Given the description of an element on the screen output the (x, y) to click on. 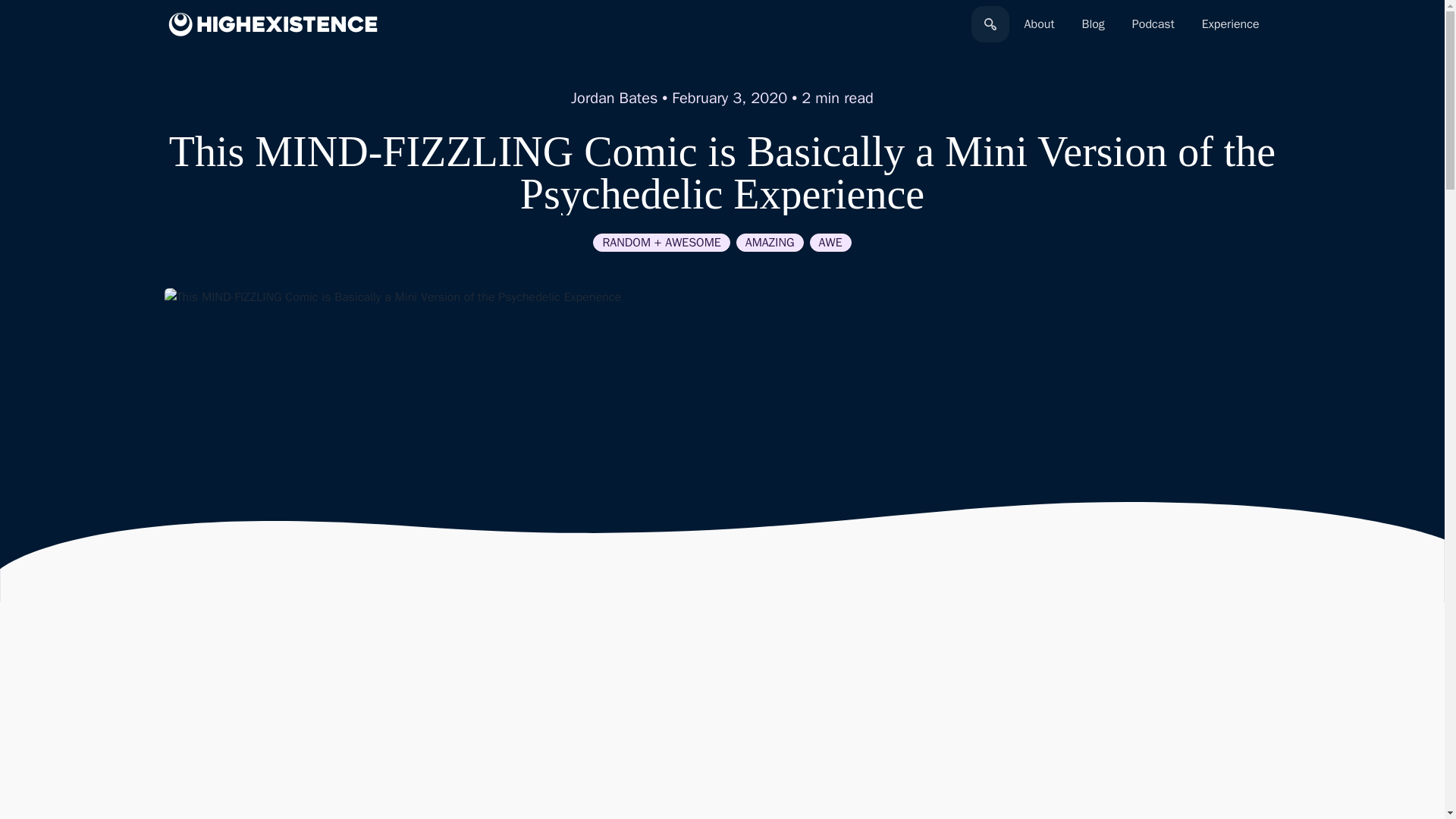
Podcast (1152, 23)
Jordan Bates (614, 97)
Jordan Bates (614, 97)
Blog (1092, 23)
Podcast (1152, 23)
About (1039, 23)
AWE (830, 242)
Blog (1092, 23)
Experience (1230, 23)
About (1039, 23)
AMAZING (769, 242)
